Given the description of an element on the screen output the (x, y) to click on. 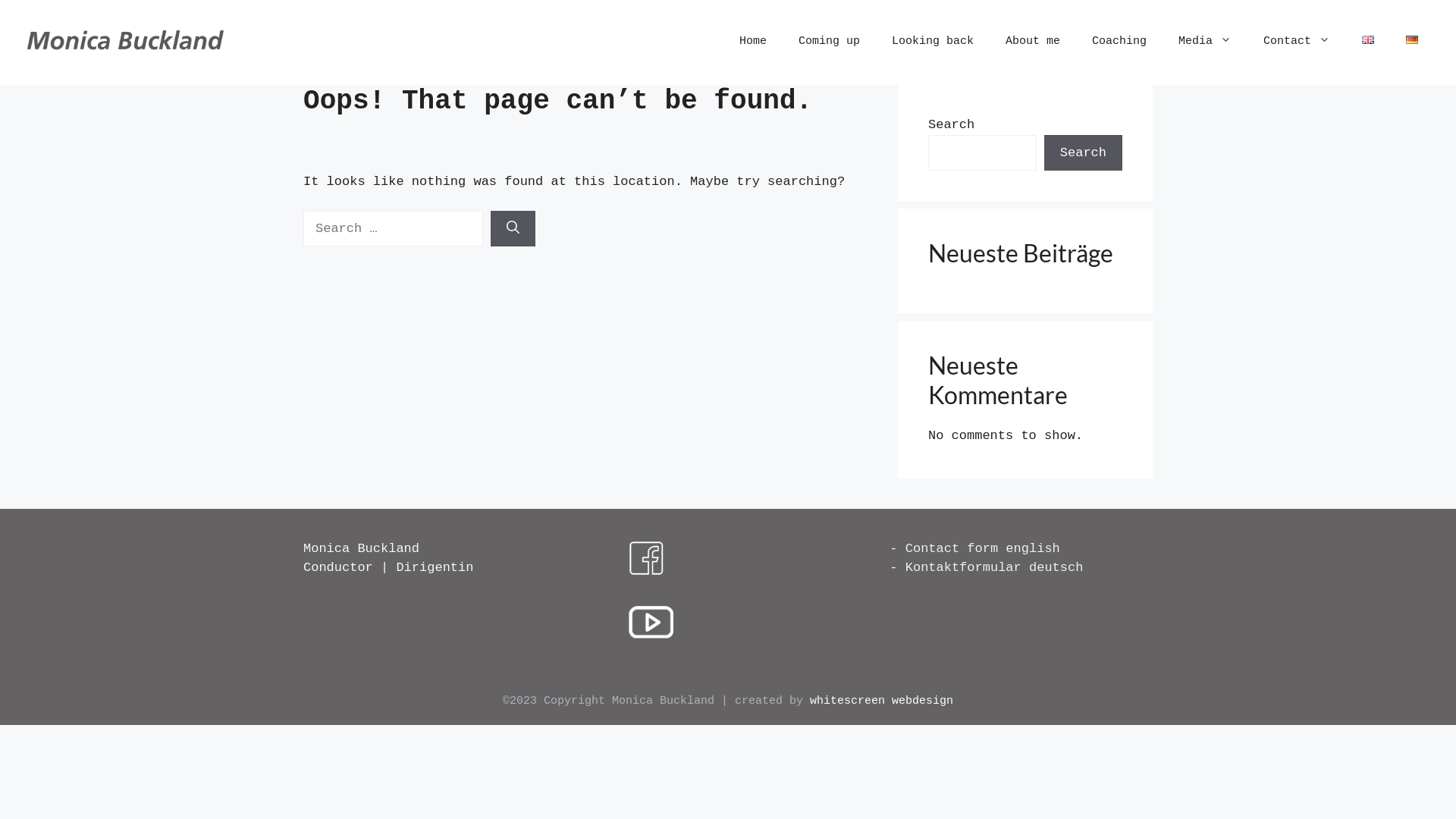
About me Element type: text (1032, 41)
whitescreen webdesign Element type: text (881, 700)
Home Element type: text (752, 41)
Media Element type: text (1204, 41)
Search for: Element type: hover (393, 228)
Coming up Element type: text (828, 41)
Search Element type: text (1083, 152)
Contact form english Element type: text (982, 548)
Kontaktformular deutsch Element type: text (994, 567)
Contact Element type: text (1296, 41)
Looking back Element type: text (932, 41)
Coaching Element type: text (1119, 41)
